Given the description of an element on the screen output the (x, y) to click on. 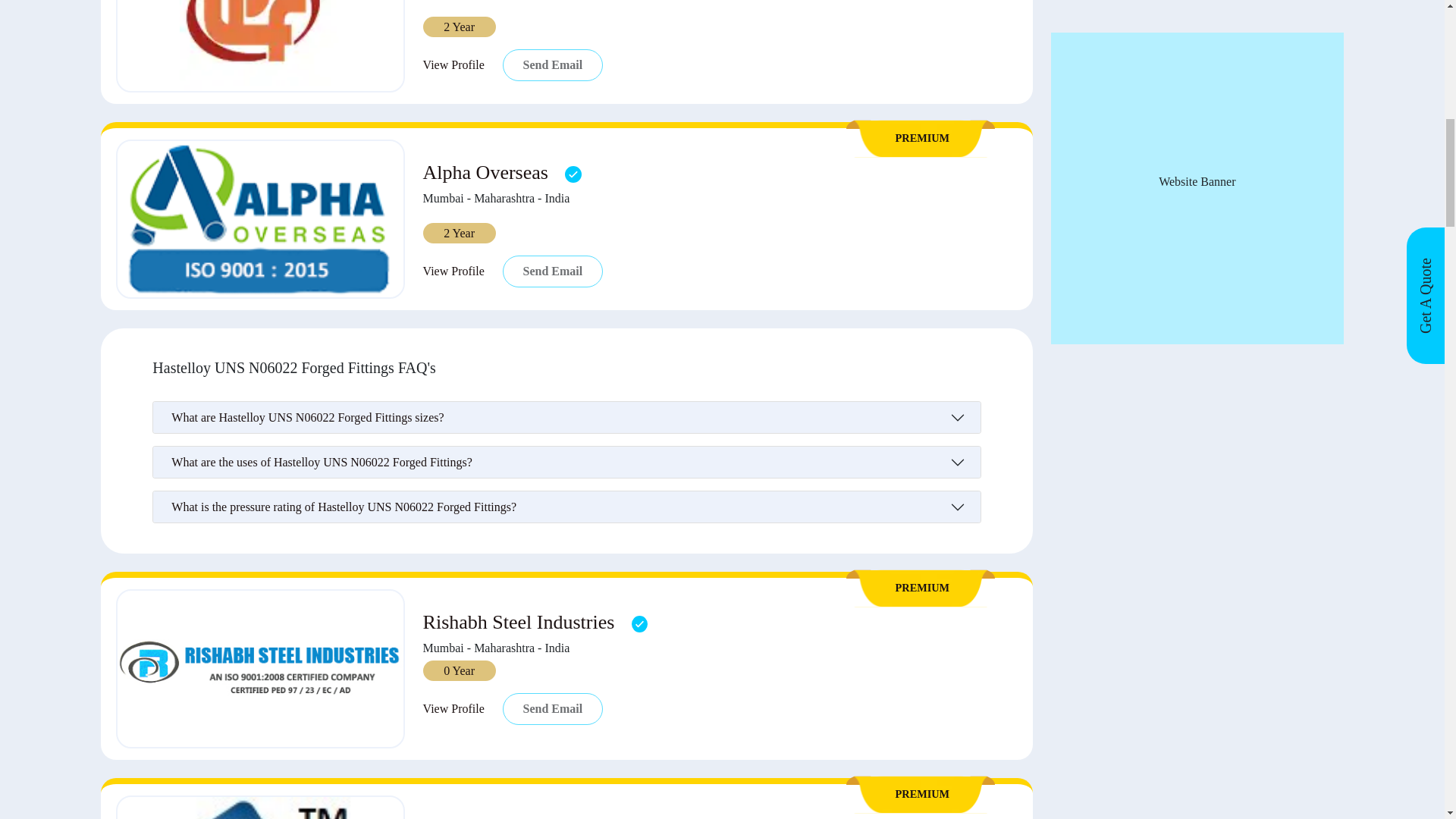
Tax ID verified. Email verified. (572, 173)
Tax ID verified. Email verified. (639, 623)
